Given the description of an element on the screen output the (x, y) to click on. 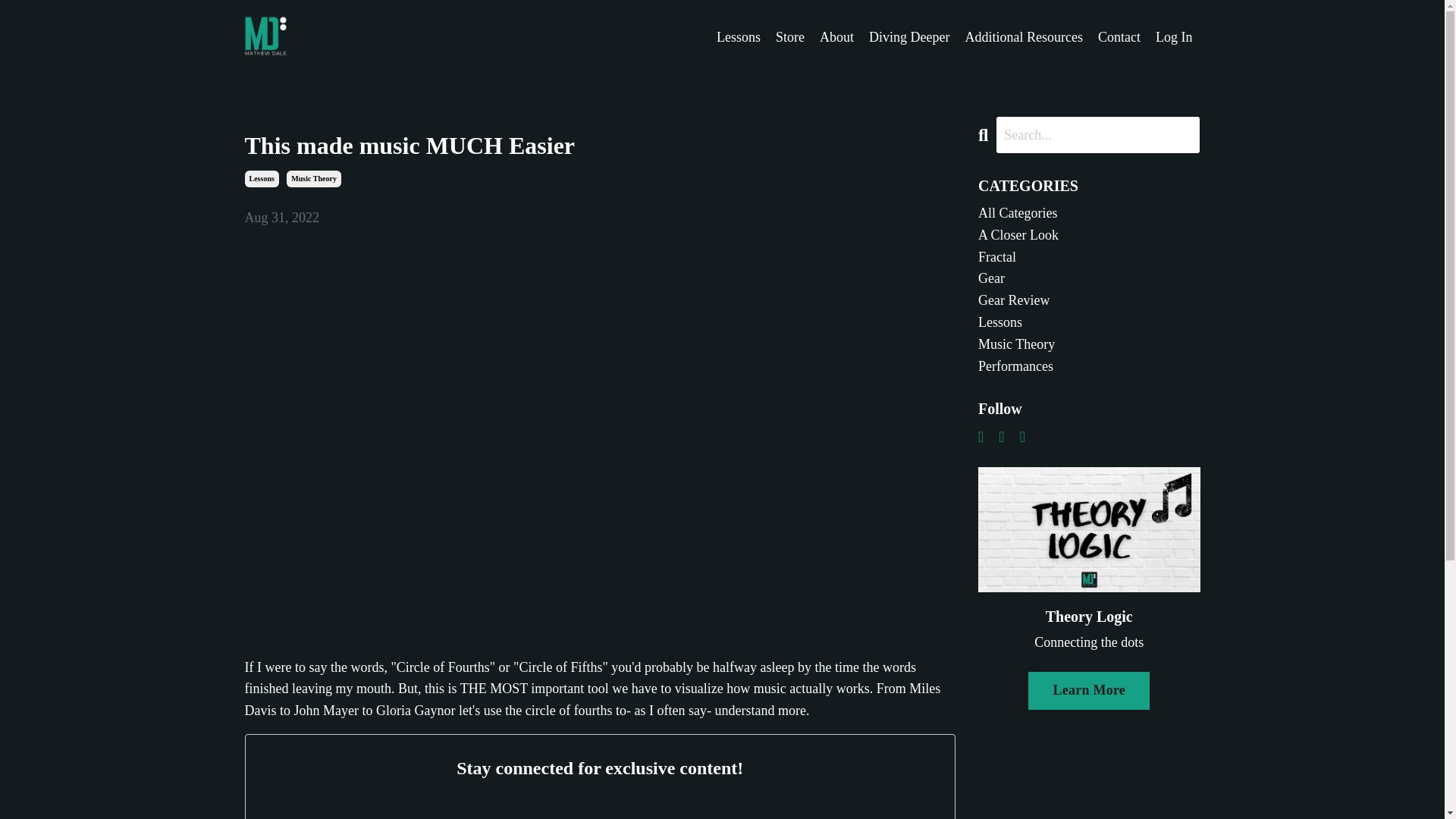
Learn More (1088, 690)
Gear (1088, 278)
Gear Review (1088, 300)
Fractal (1088, 257)
All Categories (1088, 213)
Music Theory (313, 178)
Log In (1174, 37)
Diving Deeper (909, 37)
A Closer Look (1088, 235)
Lessons (1088, 322)
Lessons (261, 178)
Music Theory (1088, 344)
Additional Resources (1024, 37)
About (836, 37)
